Given the description of an element on the screen output the (x, y) to click on. 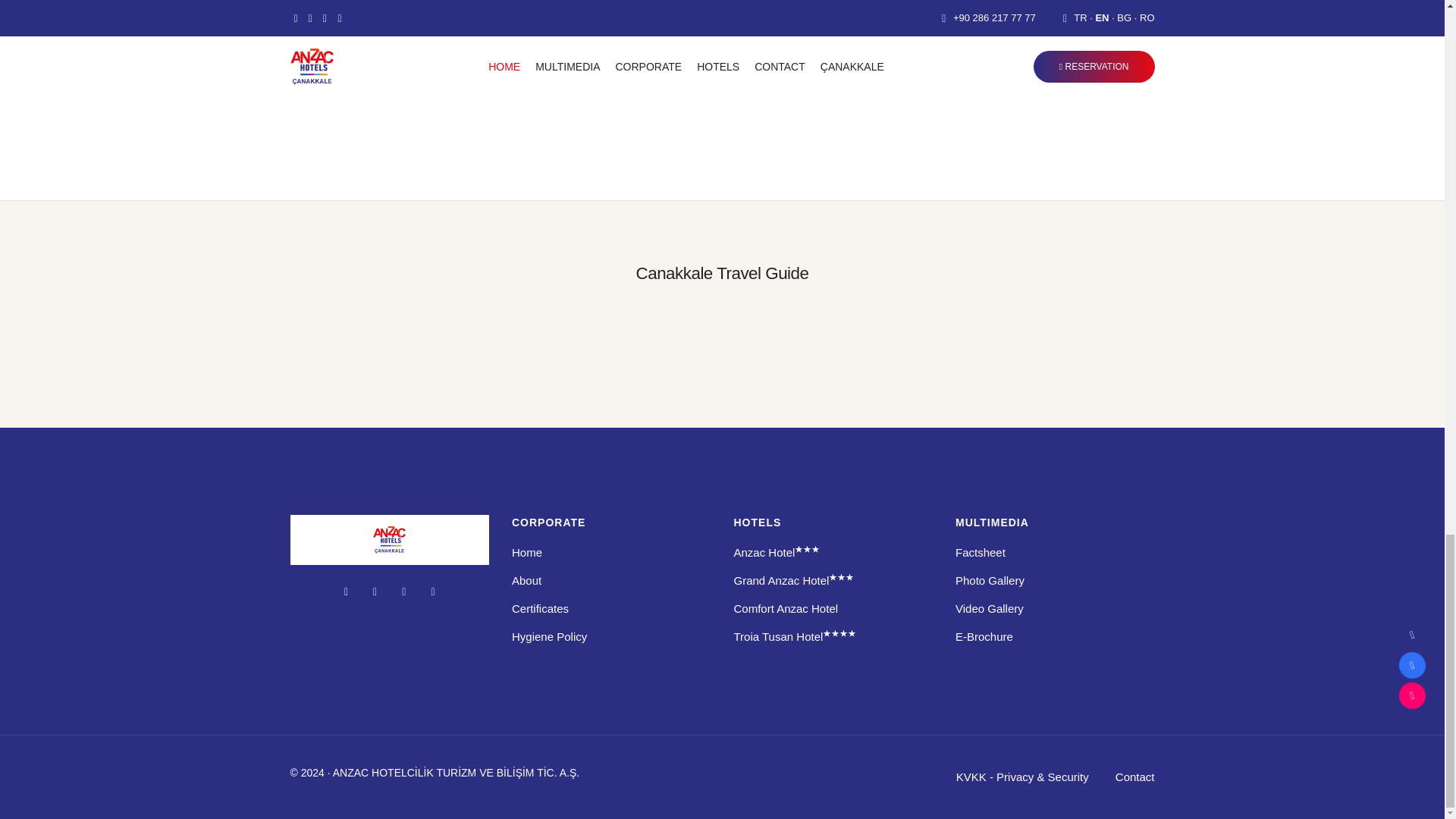
Whatsapp (433, 590)
Anzac Hotels (526, 552)
Anzac Hotels (389, 540)
